Given the description of an element on the screen output the (x, y) to click on. 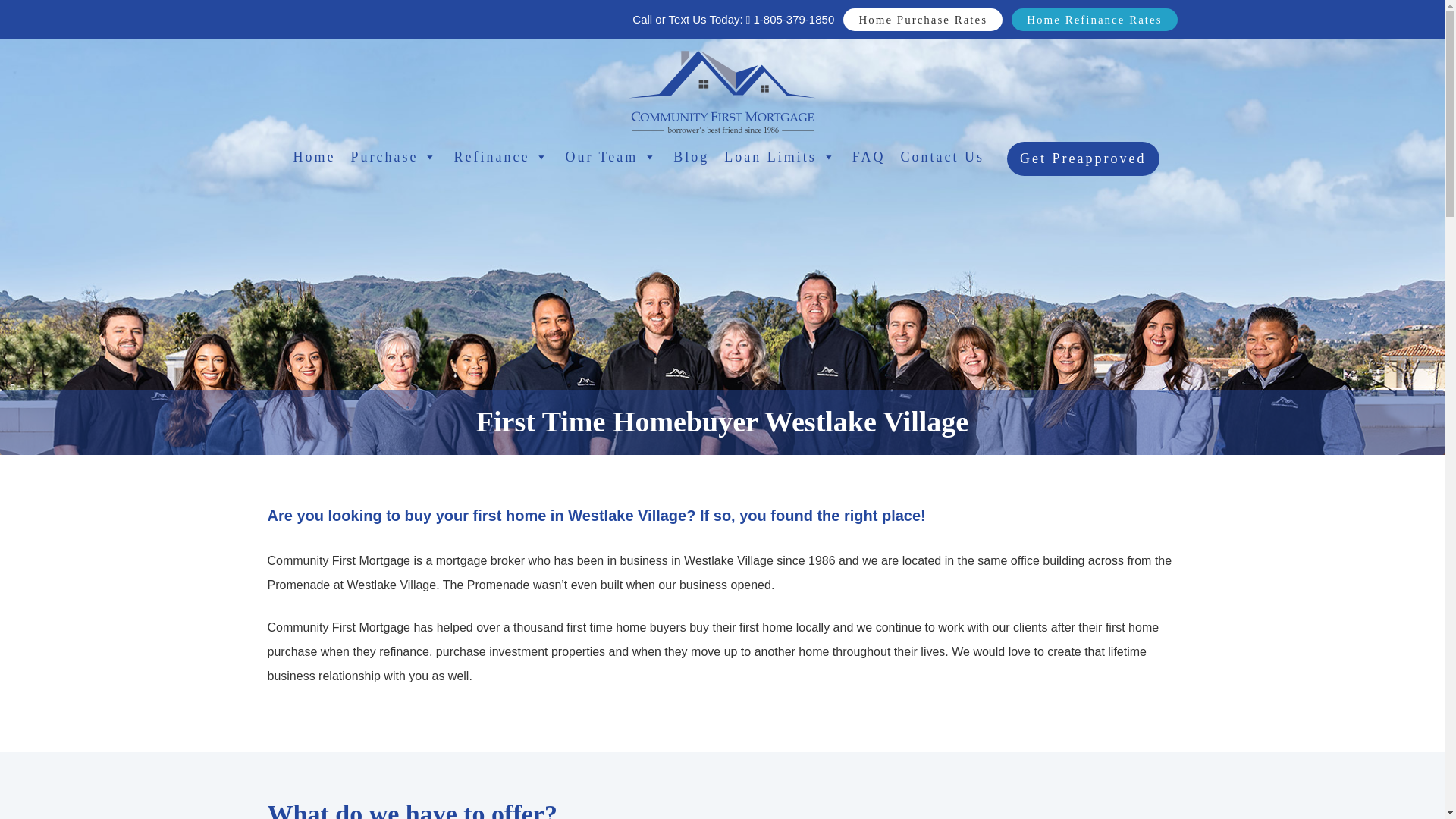
Home Refinance Rates (1093, 19)
logo (721, 91)
Home Purchase Rates (923, 19)
1-805-379-1850 (789, 19)
